Given the description of an element on the screen output the (x, y) to click on. 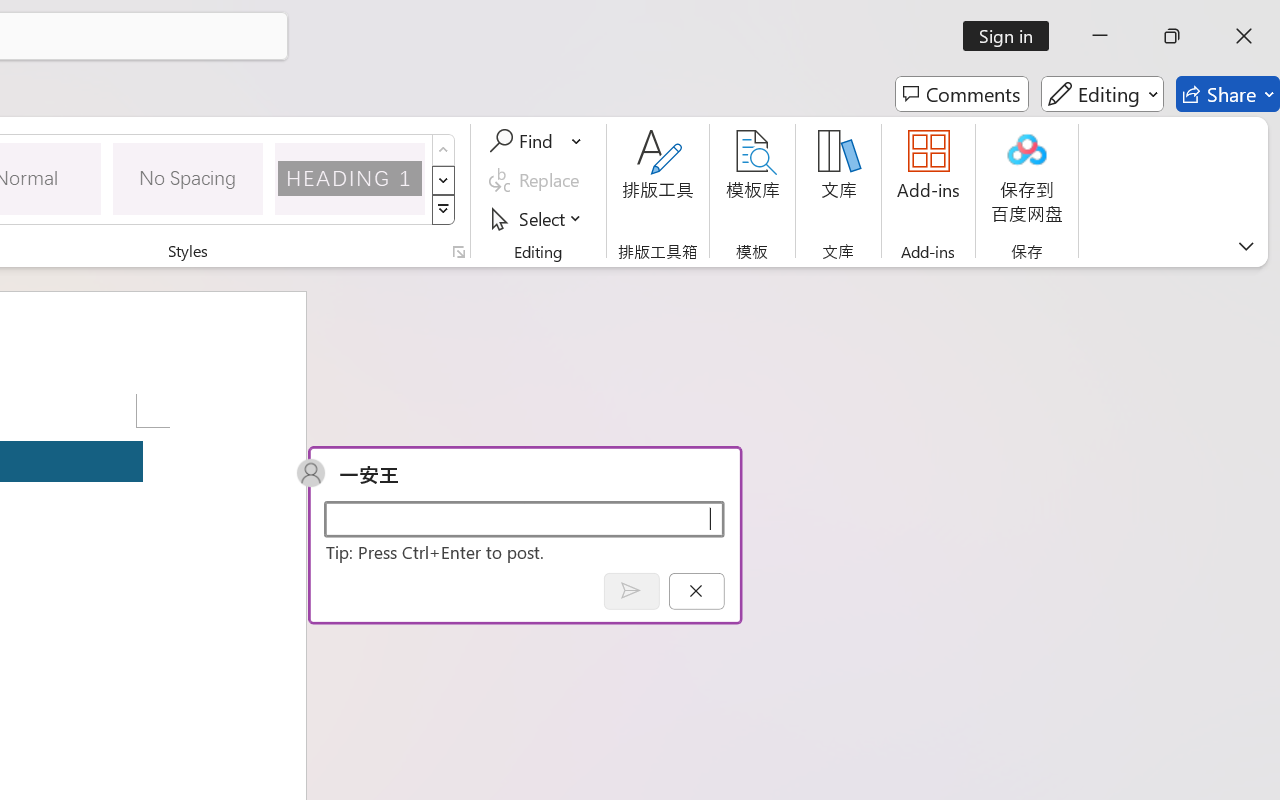
Cancel (696, 590)
Editing (1101, 94)
